Given the description of an element on the screen output the (x, y) to click on. 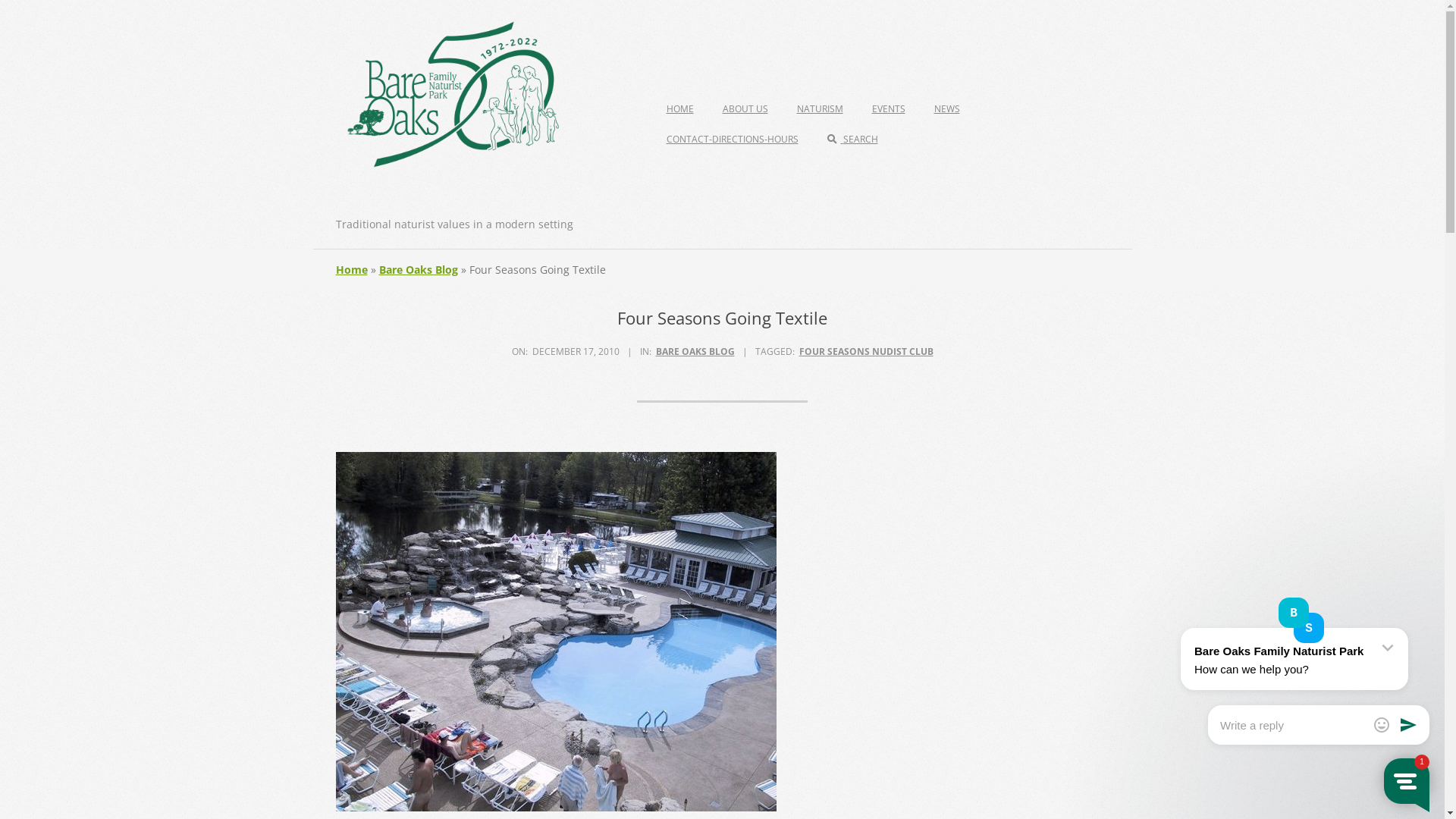
ABOUT US Element type: text (744, 109)
BARE OAKS BLOG Element type: text (694, 351)
EVENTS Element type: text (888, 109)
trengo-widget-badge Element type: hover (1421, 761)
CONTACT-DIRECTIONS-HOURS Element type: text (731, 139)
FOUR SEASONS NUDIST CLUB Element type: text (866, 351)
HOME Element type: text (679, 109)
Home Element type: text (351, 269)
trengo-widget-greeter Element type: hover (1292, 631)
Bare Oaks Blog Element type: text (418, 269)
trengo-widget-launcher Element type: hover (1406, 780)
SEARCH Element type: text (851, 139)
NATURISM Element type: text (819, 109)
NEWS Element type: text (946, 109)
